Given the description of an element on the screen output the (x, y) to click on. 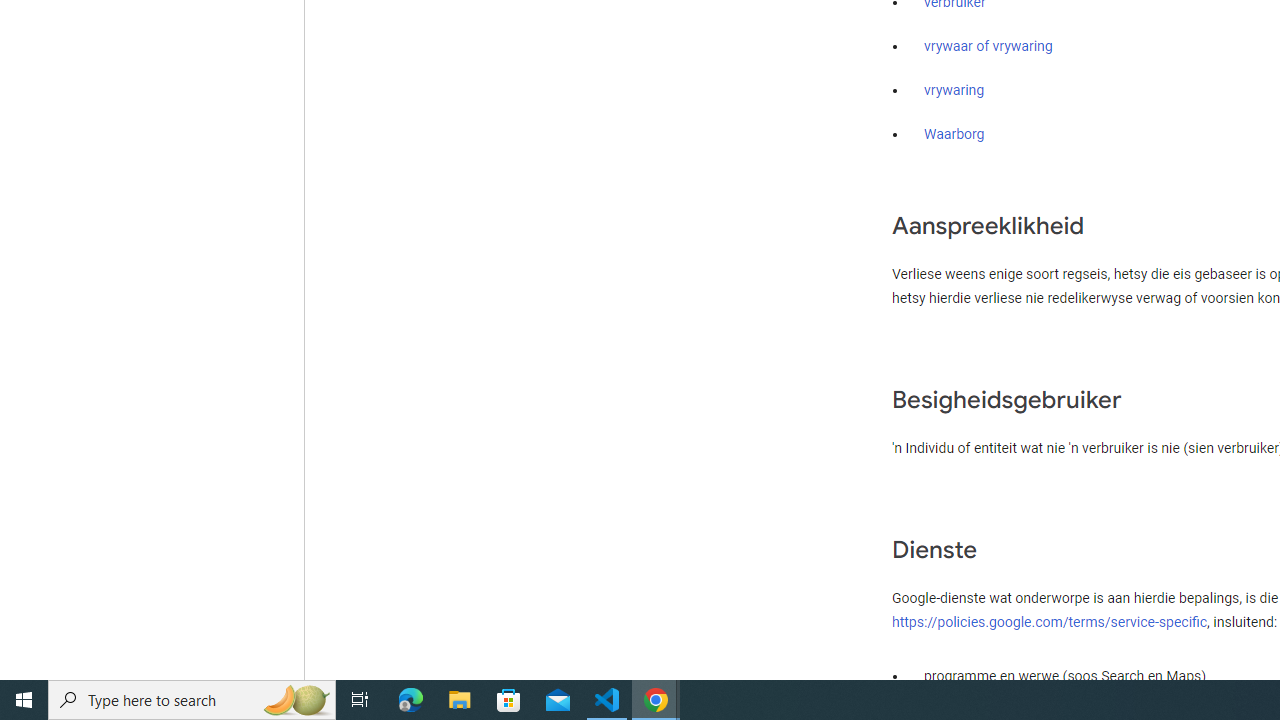
Waarborg (954, 134)
https://policies.google.com/terms/service-specific (1050, 621)
vrywaring (954, 91)
vrywaar of vrywaring (988, 47)
